Given the description of an element on the screen output the (x, y) to click on. 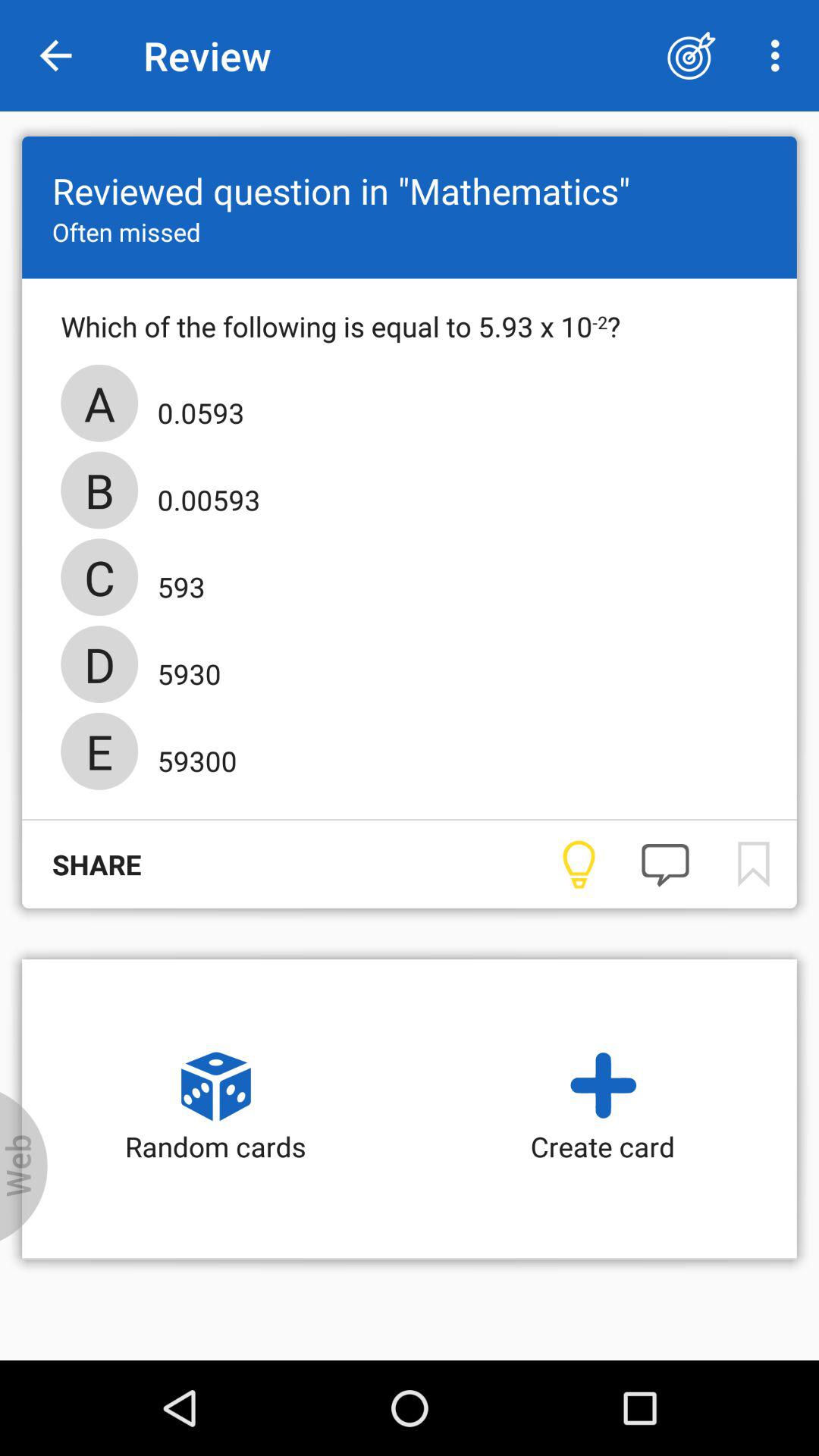
jump until share (81, 864)
